Given the description of an element on the screen output the (x, y) to click on. 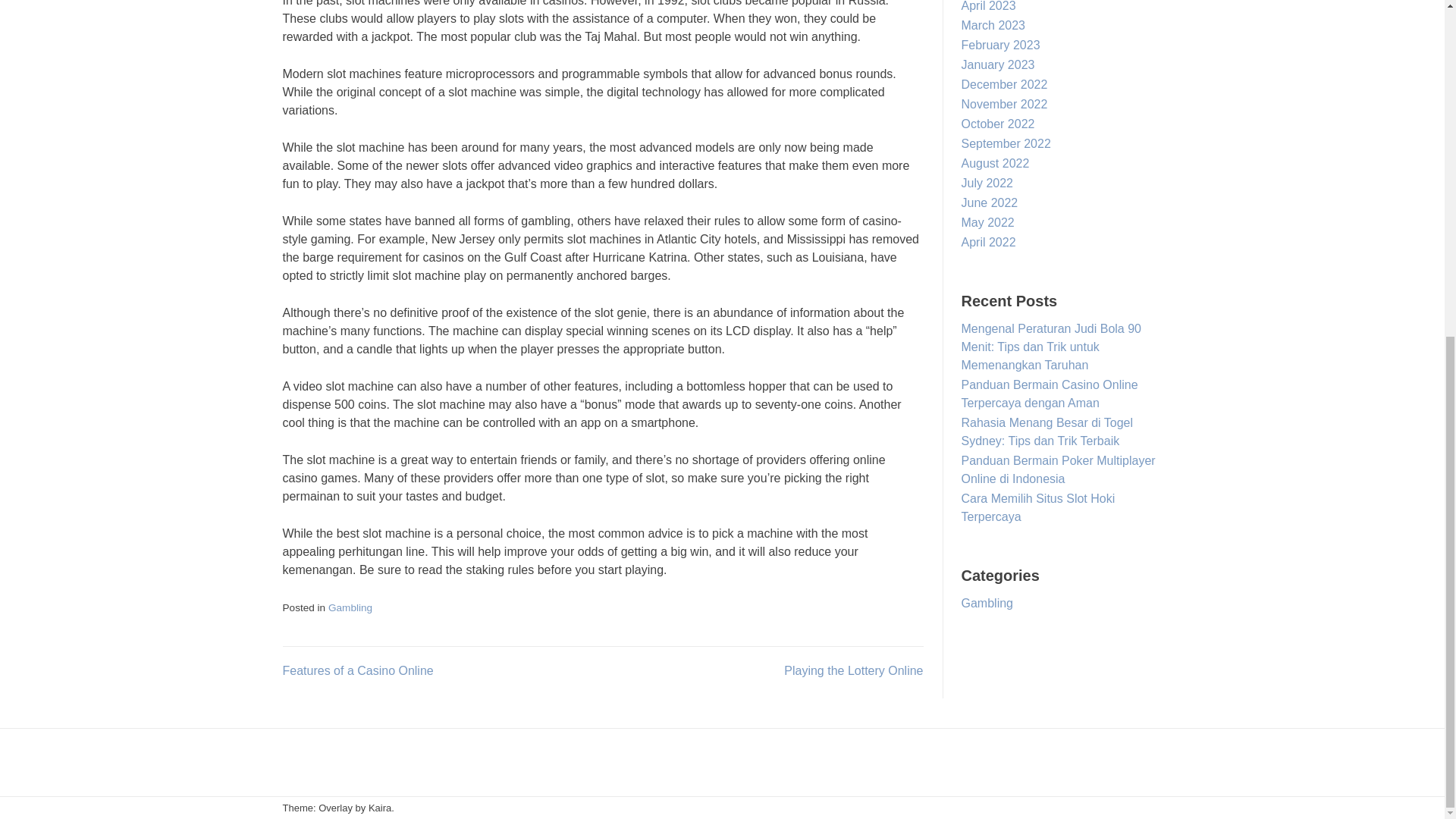
June 2022 (988, 202)
December 2022 (1004, 83)
Playing the Lottery Online (853, 670)
Features of a Casino Online (357, 670)
May 2022 (987, 222)
Gambling (350, 607)
October 2022 (997, 123)
August 2022 (994, 163)
April 2023 (988, 6)
July 2022 (986, 182)
